Given the description of an element on the screen output the (x, y) to click on. 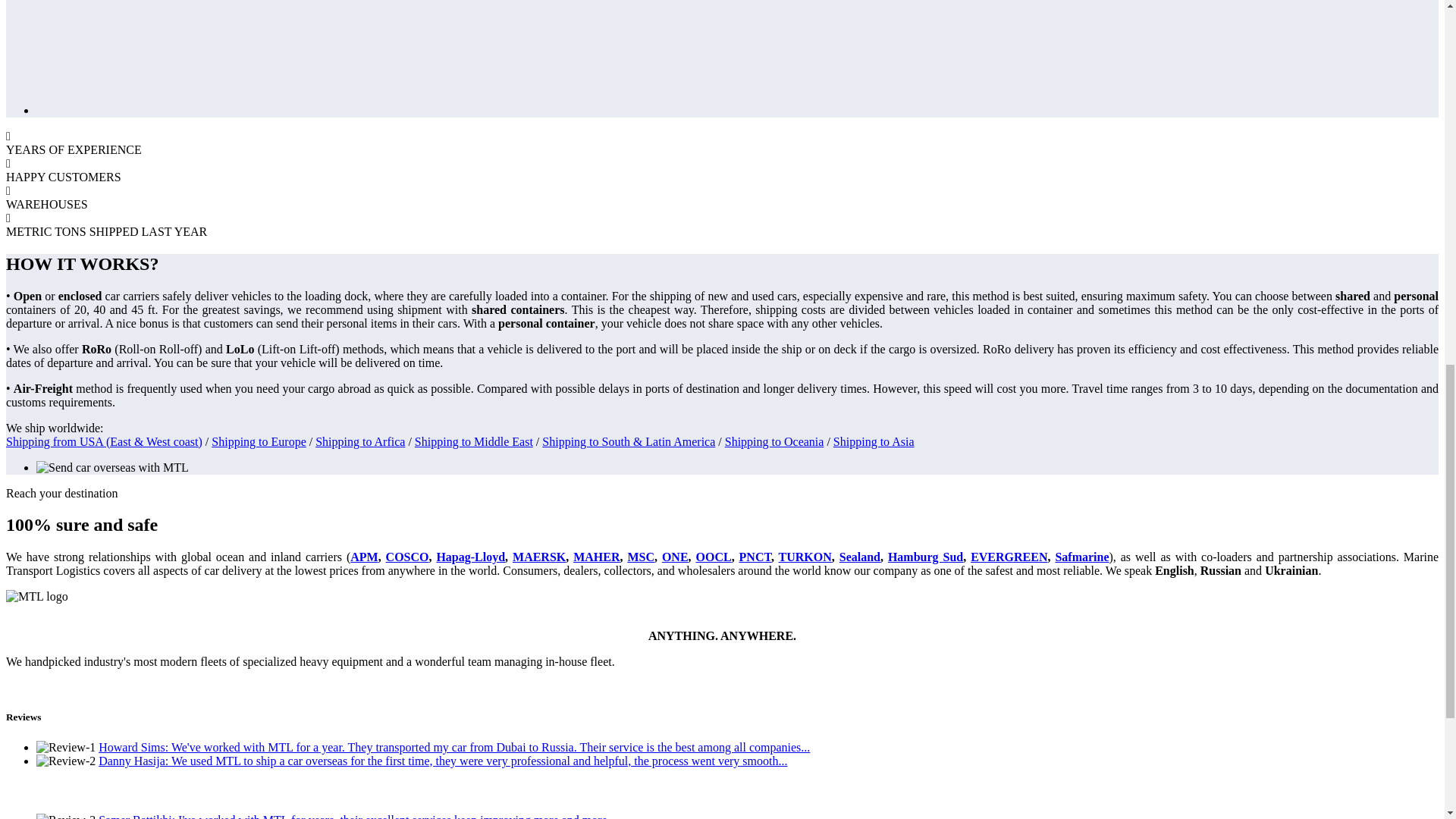
Shipping to Middle East (473, 440)
Shipping to South (587, 440)
Ship car to any Asia country (873, 440)
MSC (640, 556)
Ship car to any place in the Middle East (473, 440)
Shipping to Arfica (359, 440)
Ship car to any place in the South America (587, 440)
COSCO (407, 556)
Ship car to any Arfica country (359, 440)
5 star review about MTL (443, 760)
Shipping to Europe (258, 440)
